Given the description of an element on the screen output the (x, y) to click on. 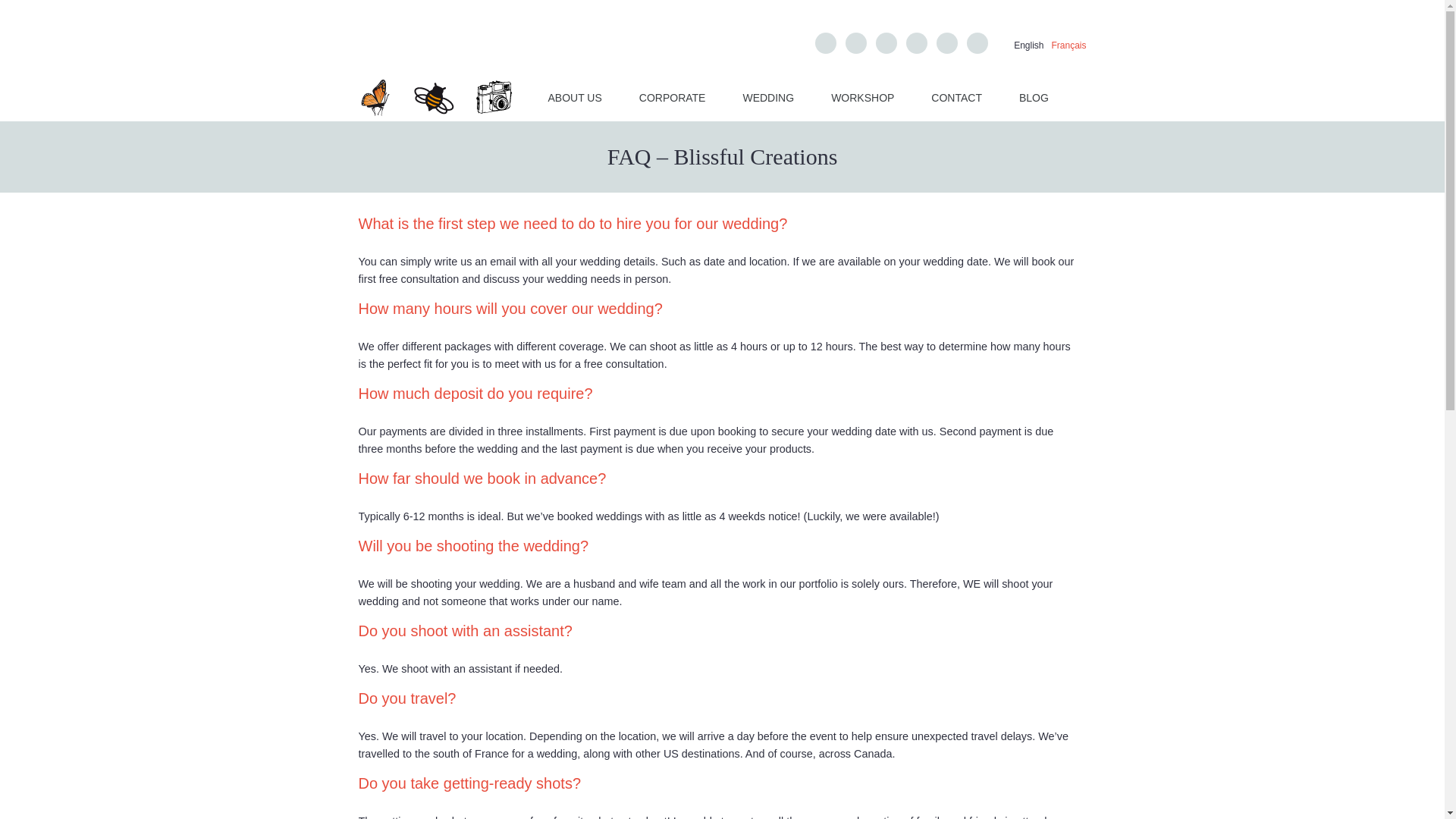
CONTACT (956, 97)
WEDDING (767, 97)
WORKSHOP (862, 97)
CORPORATE (672, 97)
ABOUT US (574, 97)
BLOG (1033, 97)
